Given the description of an element on the screen output the (x, y) to click on. 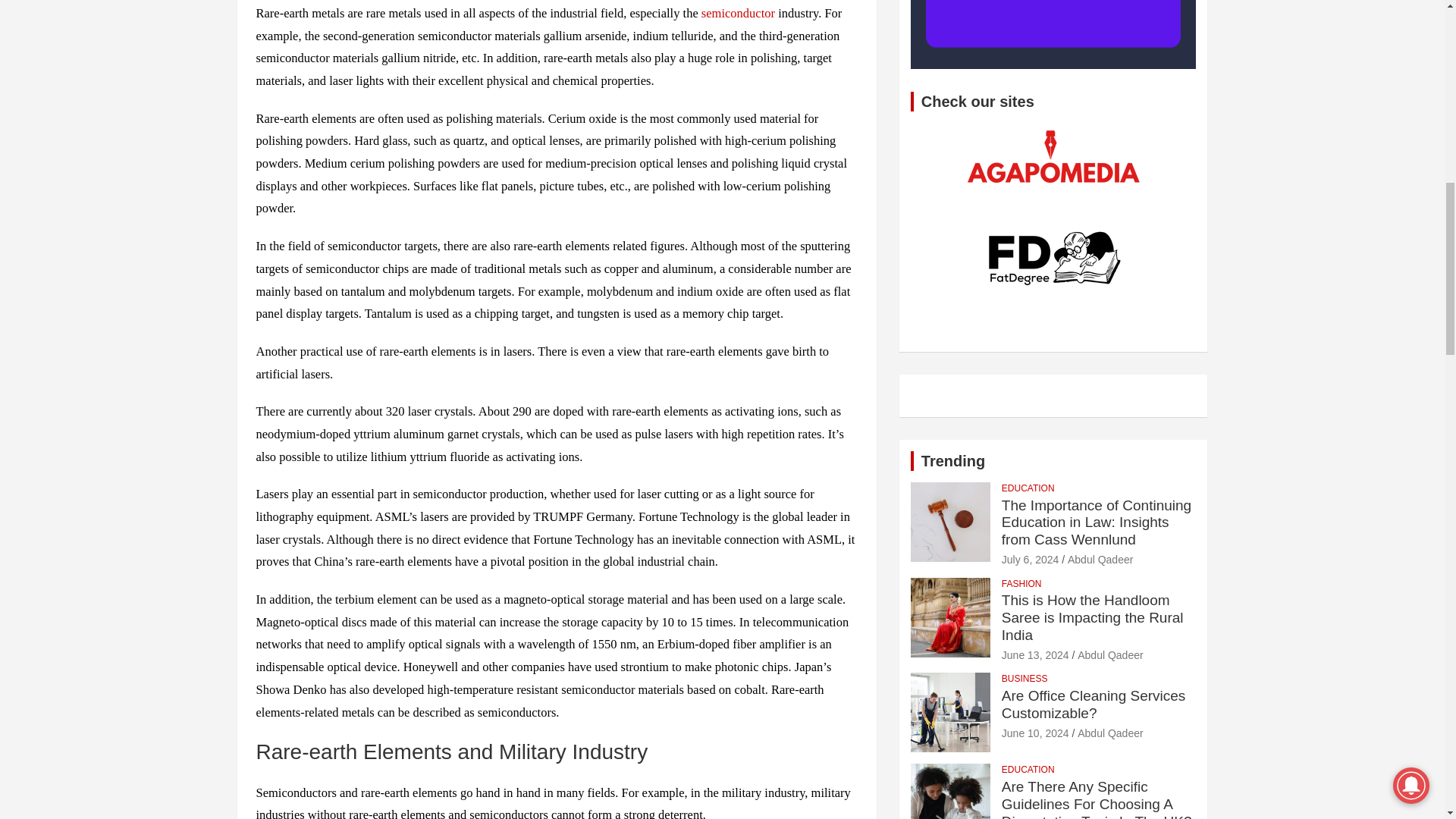
semiconductor (737, 12)
This is How the Handloom Saree is Impacting the Rural India (1034, 654)
Are Office Cleaning Services Customizable? (1034, 733)
